Given the description of an element on the screen output the (x, y) to click on. 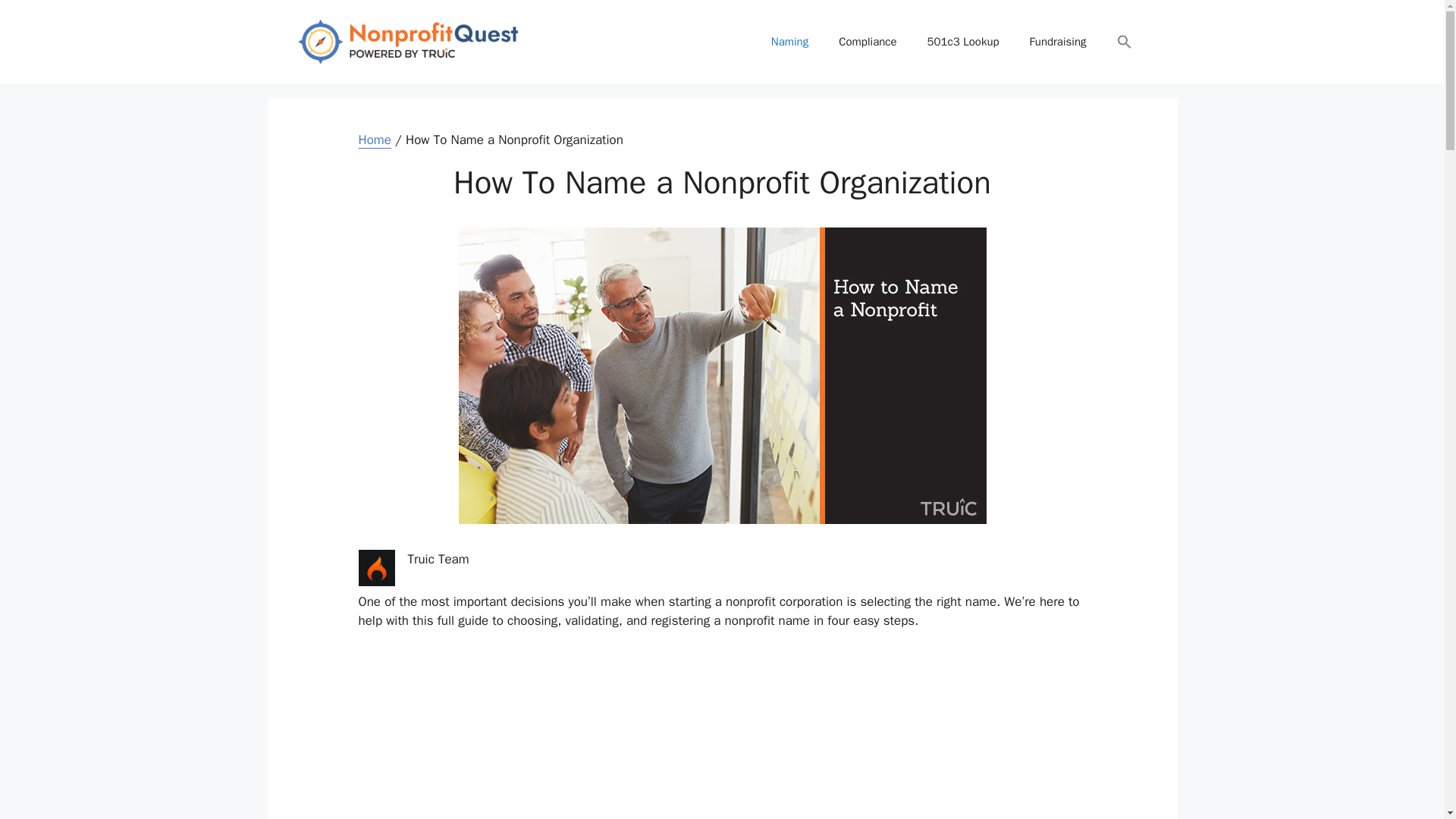
Home (374, 139)
Naming (789, 41)
Compliance (867, 41)
Fundraising (1058, 41)
Nonprofit Naming Tool (722, 749)
501c3 Lookup (963, 41)
